Given the description of an element on the screen output the (x, y) to click on. 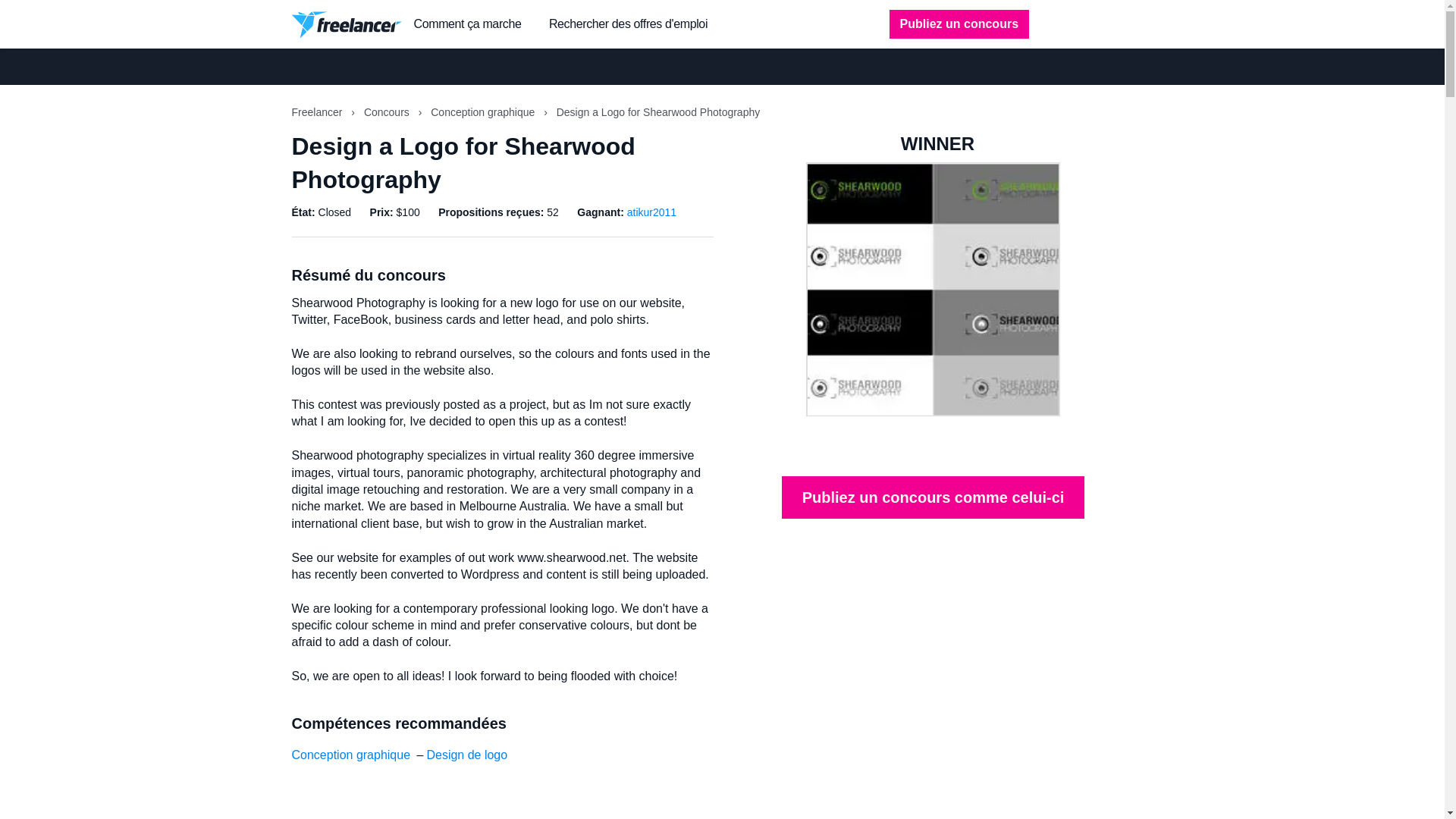
Rechercher des offres d'emploi (627, 24)
Freelancer (318, 111)
Design de logo (466, 754)
Conception graphique (350, 754)
Publiez un concours comme celui-ci (932, 496)
Publiez un concours (959, 23)
atikur2011 (652, 212)
Conception graphique (483, 111)
Concours (388, 111)
